Given the description of an element on the screen output the (x, y) to click on. 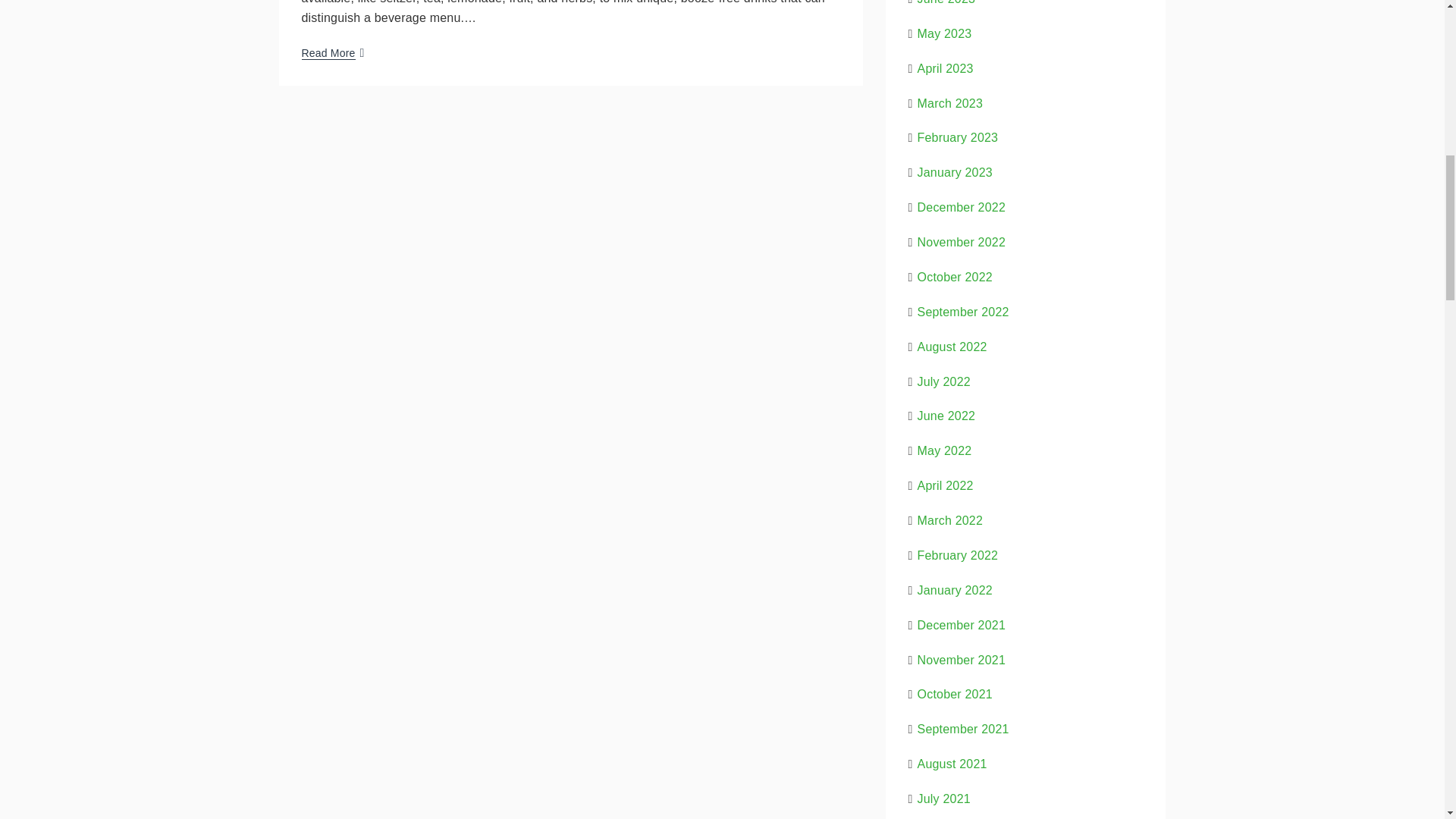
June 2023 (946, 2)
Read More (328, 52)
April 2023 (945, 68)
March 2023 (950, 103)
February 2023 (957, 137)
May 2023 (944, 33)
